Given the description of an element on the screen output the (x, y) to click on. 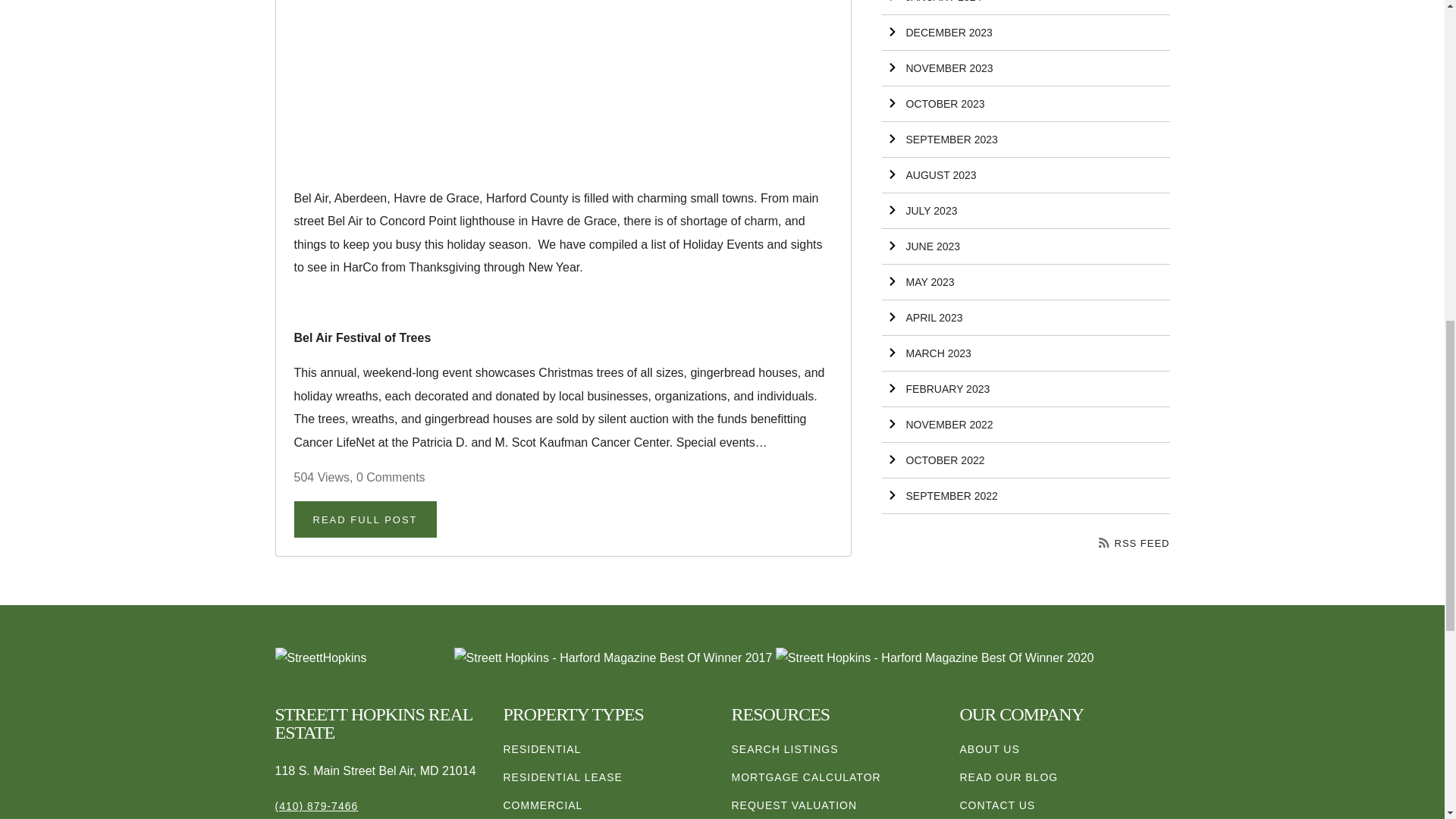
RSS FEED (1134, 542)
